Given the description of an element on the screen output the (x, y) to click on. 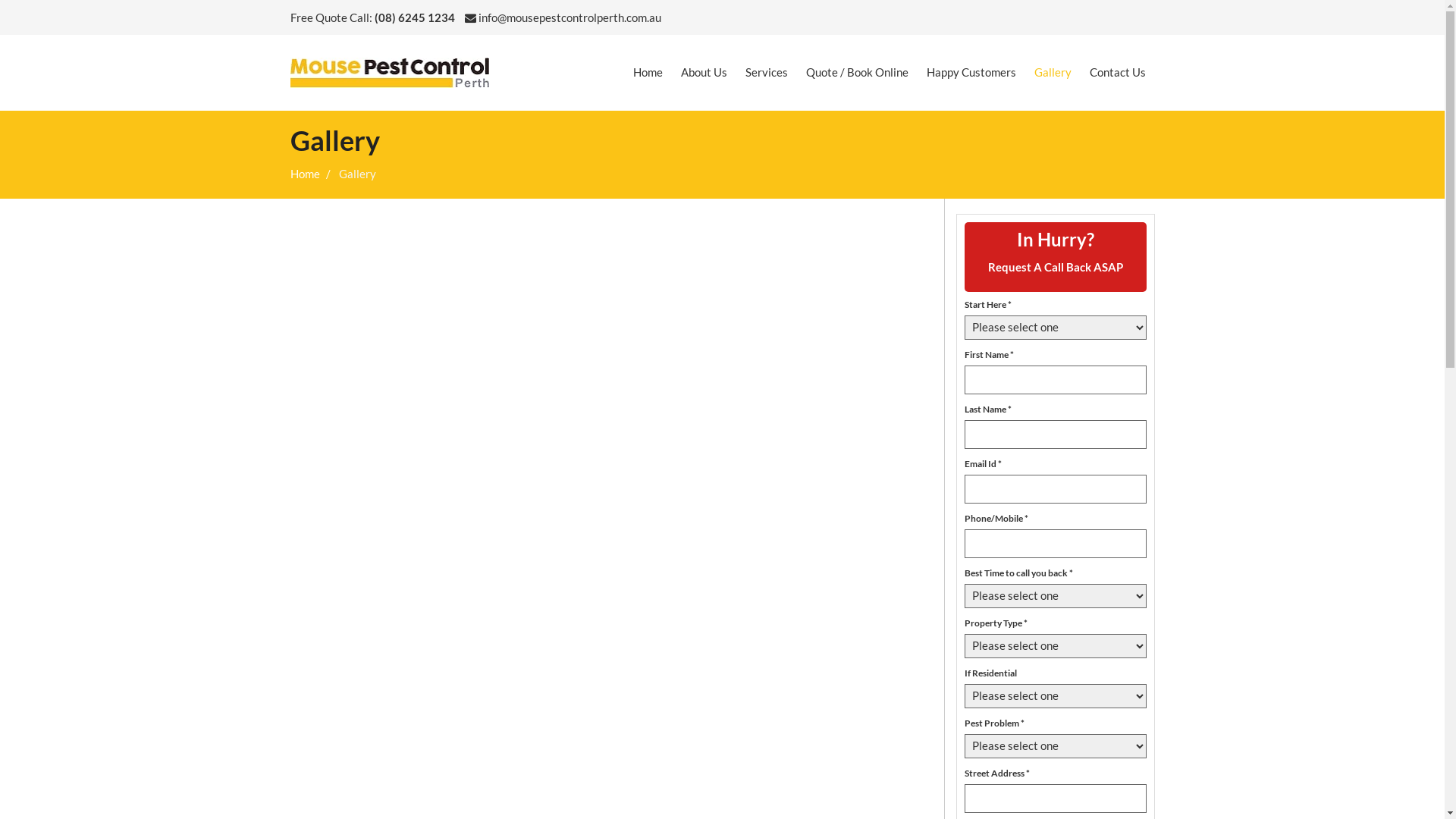
Quote / Book Online Element type: text (856, 72)
Mouse Pest Control perth Element type: hover (389, 72)
Contact Us Element type: text (1116, 72)
About Us Element type: text (703, 72)
Services Element type: text (765, 72)
Home Element type: text (647, 72)
Home Element type: text (304, 173)
Gallery Element type: text (1052, 72)
Happy Customers Element type: text (971, 72)
Free Quote Call: (08) 6245 1234 Element type: text (371, 17)
info@mousepestcontrolperth.com.au Element type: text (562, 17)
